Given the description of an element on the screen output the (x, y) to click on. 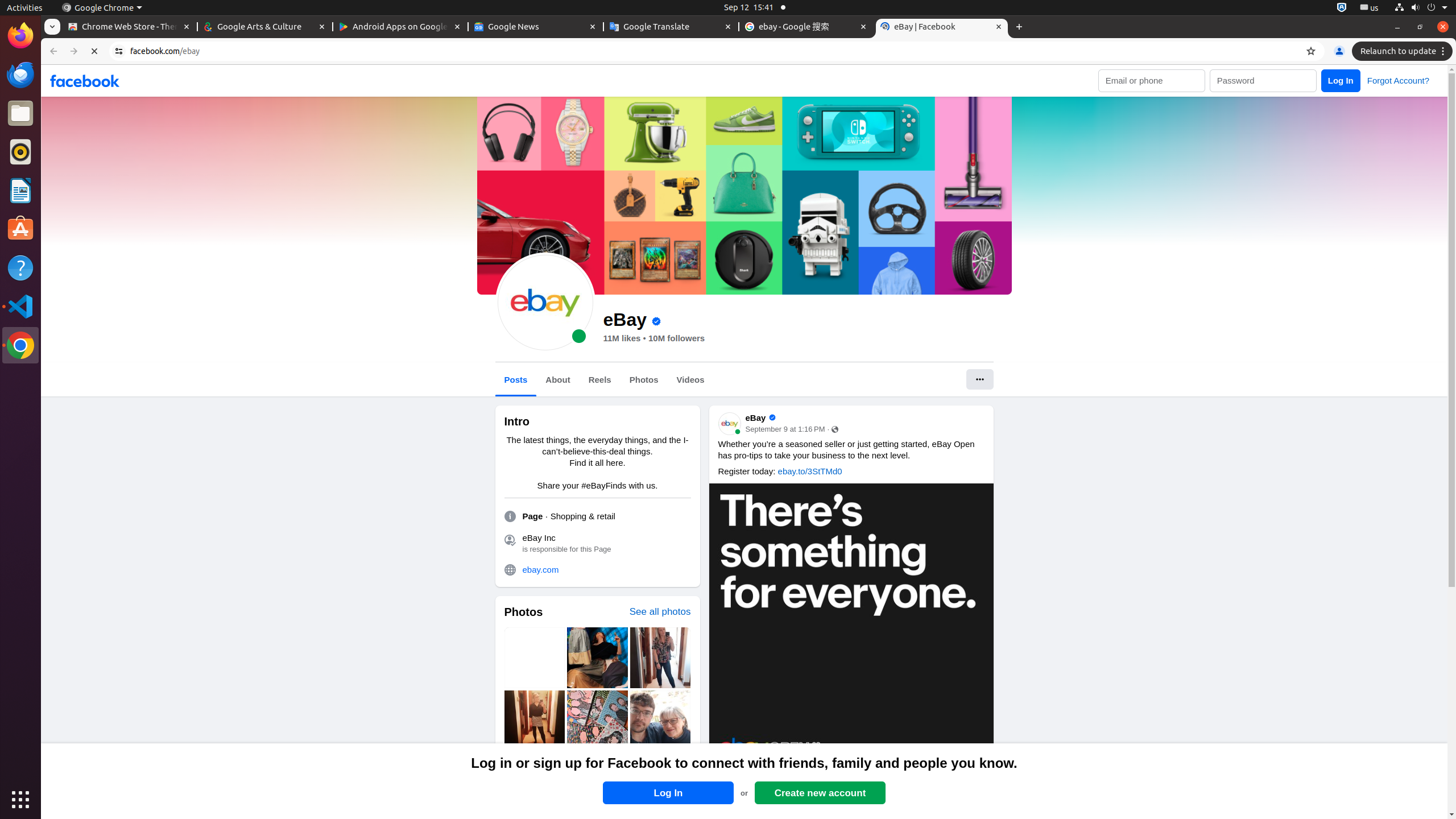
Firefox Web Browser Element type: push-button (20, 35)
Forward Element type: push-button (73, 50)
Forgot Account? Element type: link (1397, 80)
ebay.to/3StTMd0 Element type: link (809, 470)
eBay | Facebook Element type: page-tab (941, 26)
